Given the description of an element on the screen output the (x, y) to click on. 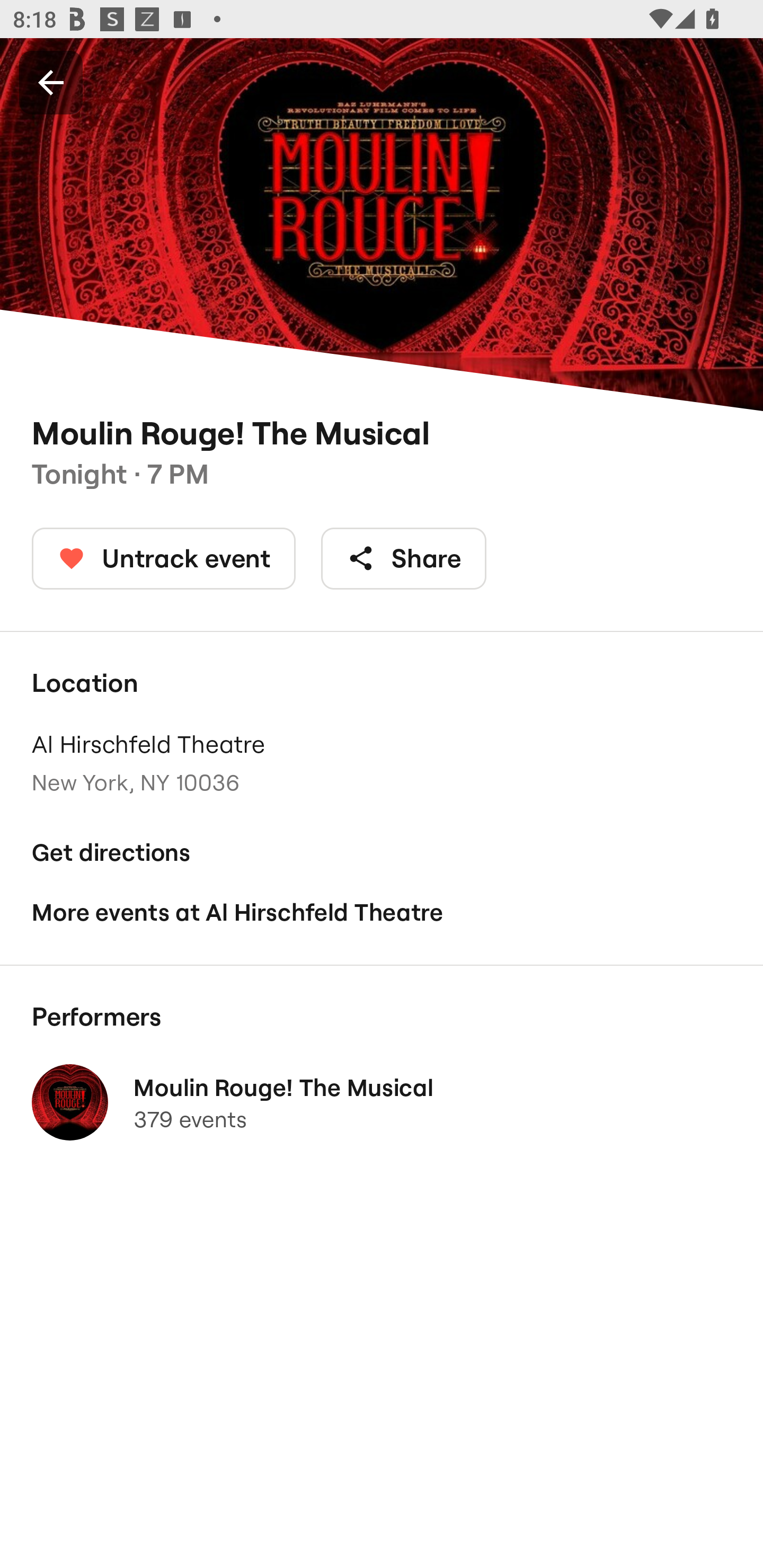
Back (50, 81)
Untrack event (164, 557)
Share (403, 557)
Get directions (381, 852)
More events at Al Hirschfeld Theatre (381, 912)
Moulin Rouge! The Musical 379 events (381, 1102)
